Given the description of an element on the screen output the (x, y) to click on. 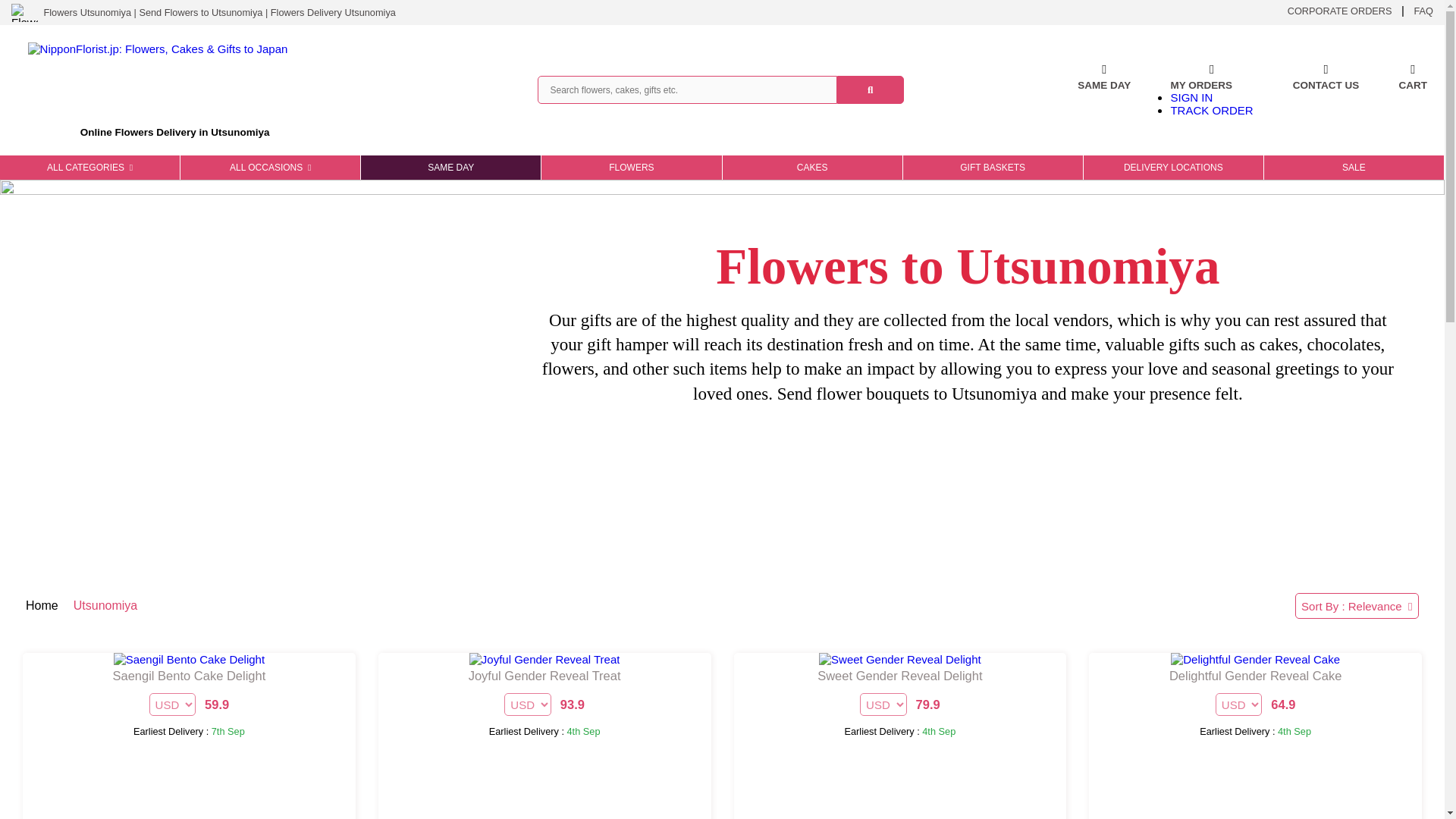
ALL OCCASIONS   (269, 167)
CORPORATE ORDERS (1339, 9)
ALL CATEGORIES   (89, 167)
TRACK ORDER (1211, 110)
CONTACT US (1325, 90)
SAME DAY (1104, 90)
FAQ (1422, 9)
3 characters minimum (686, 90)
SIGN IN (1191, 97)
